Given the description of an element on the screen output the (x, y) to click on. 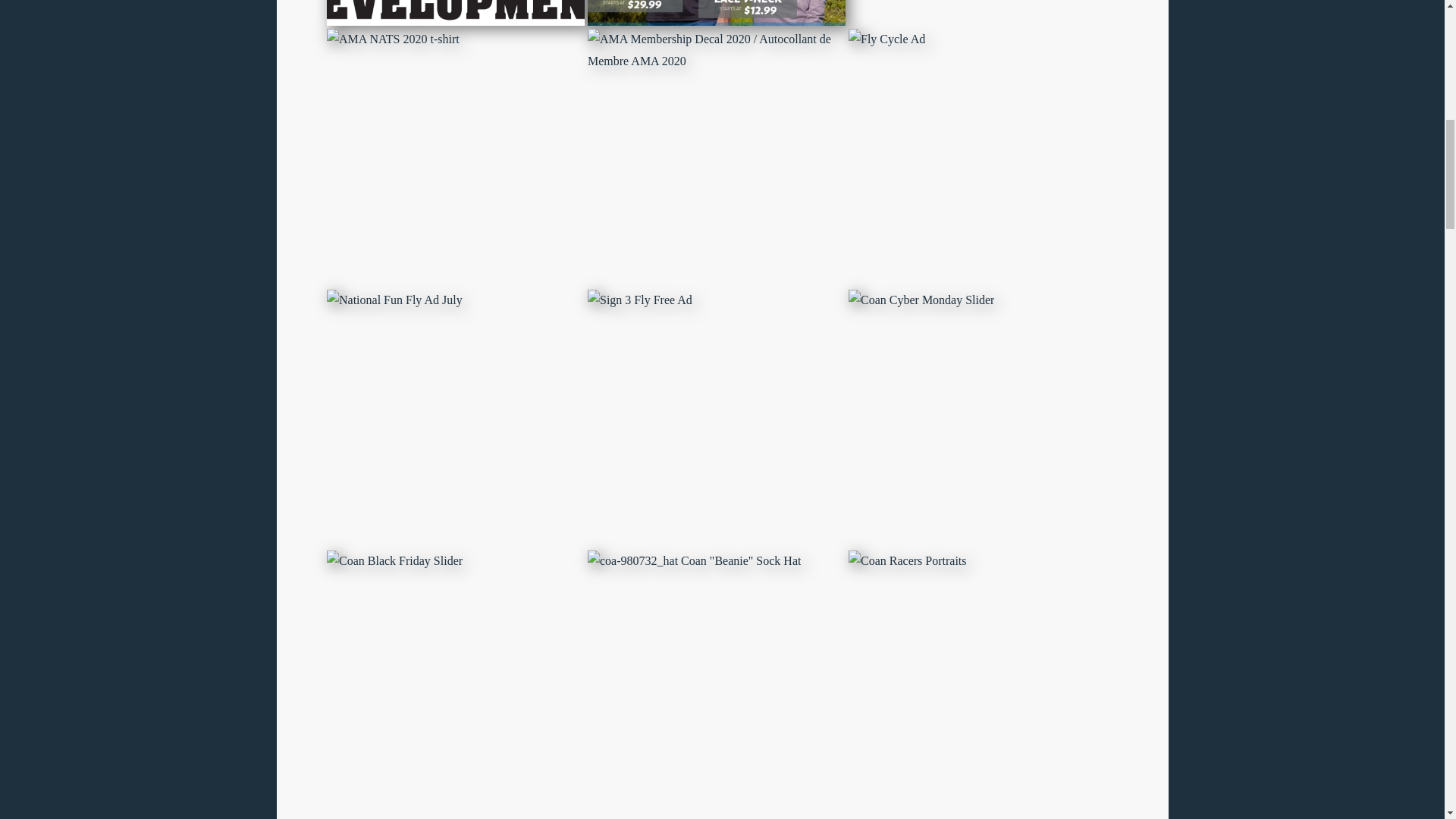
National Fun Fly Ad July (393, 300)
Cyber Monday-01 (919, 300)
AMA Membership Decal 2020 (715, 50)
SHOP AMA JANUARY 2020 (715, 12)
Fly Cycle Ad (885, 39)
runway closed (454, 12)
Sign 3 Fly Free Ad (638, 300)
Black Friday Notice-01-01 (393, 561)
